Given the description of an element on the screen output the (x, y) to click on. 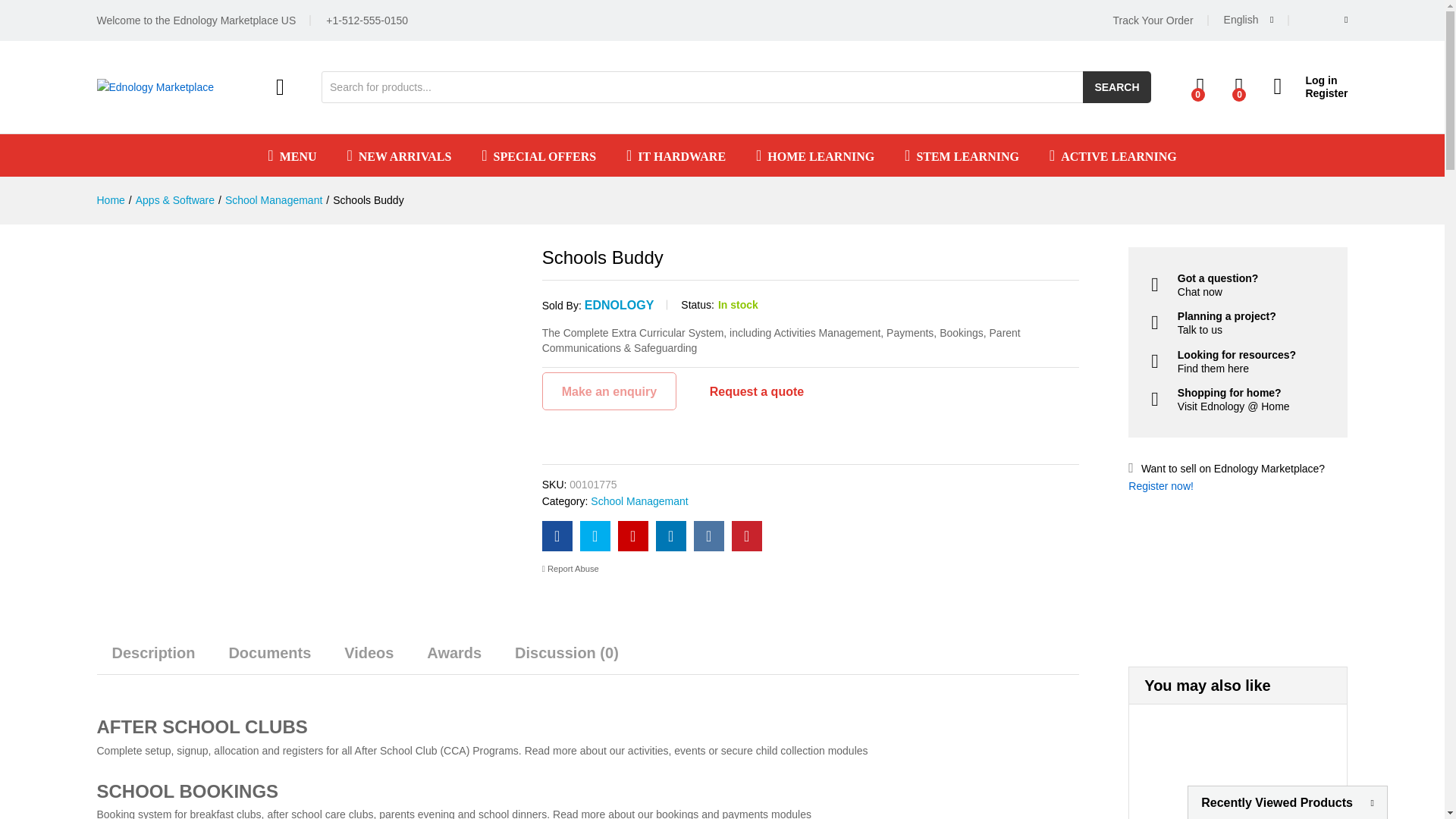
Spanish (1290, 62)
Make an enquiry (609, 391)
Track Your Order (1152, 20)
SEARCH (1116, 87)
Schools Buddy (556, 535)
English (1249, 19)
